Given the description of an element on the screen output the (x, y) to click on. 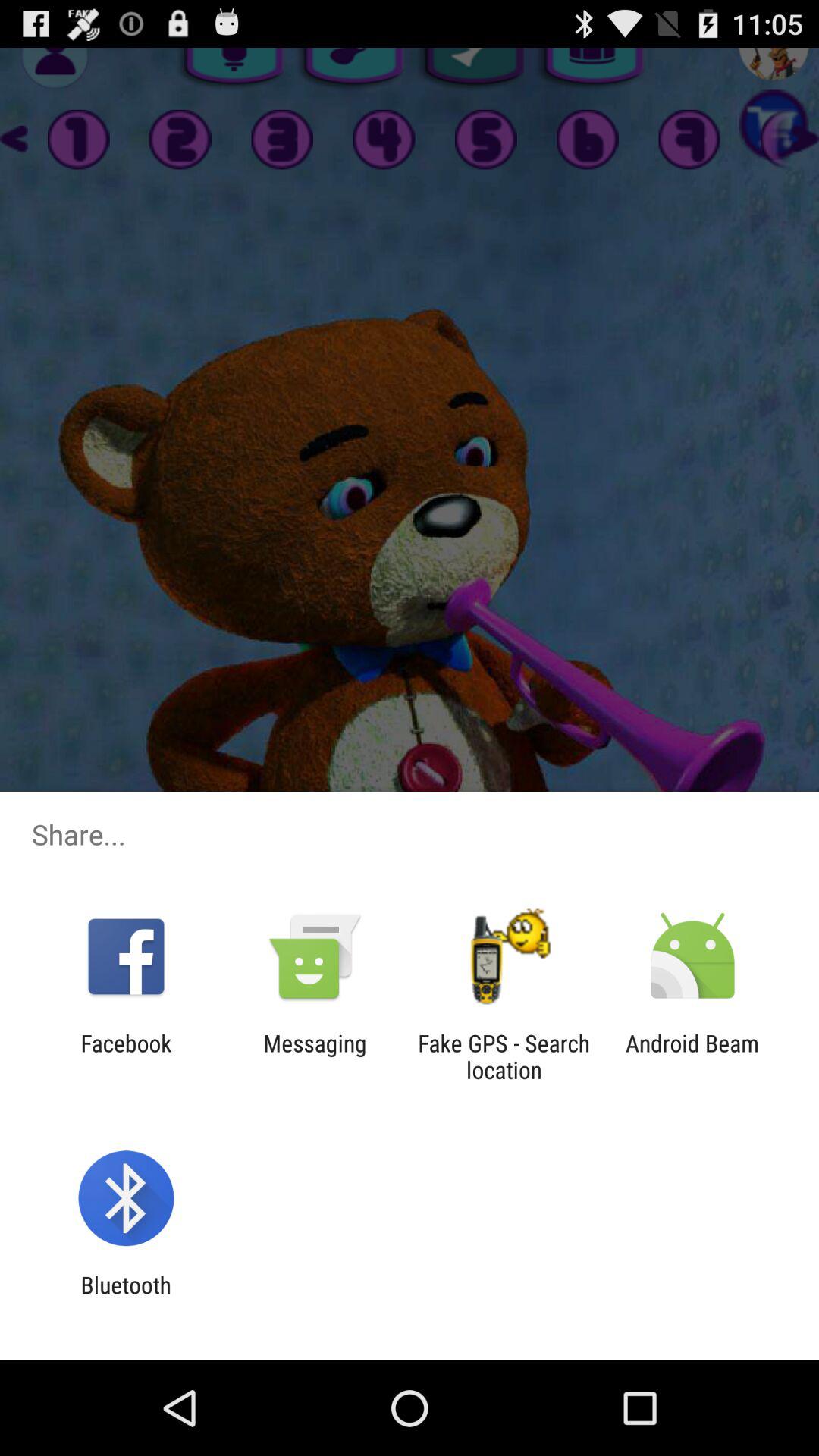
choose icon next to the fake gps search item (314, 1056)
